Given the description of an element on the screen output the (x, y) to click on. 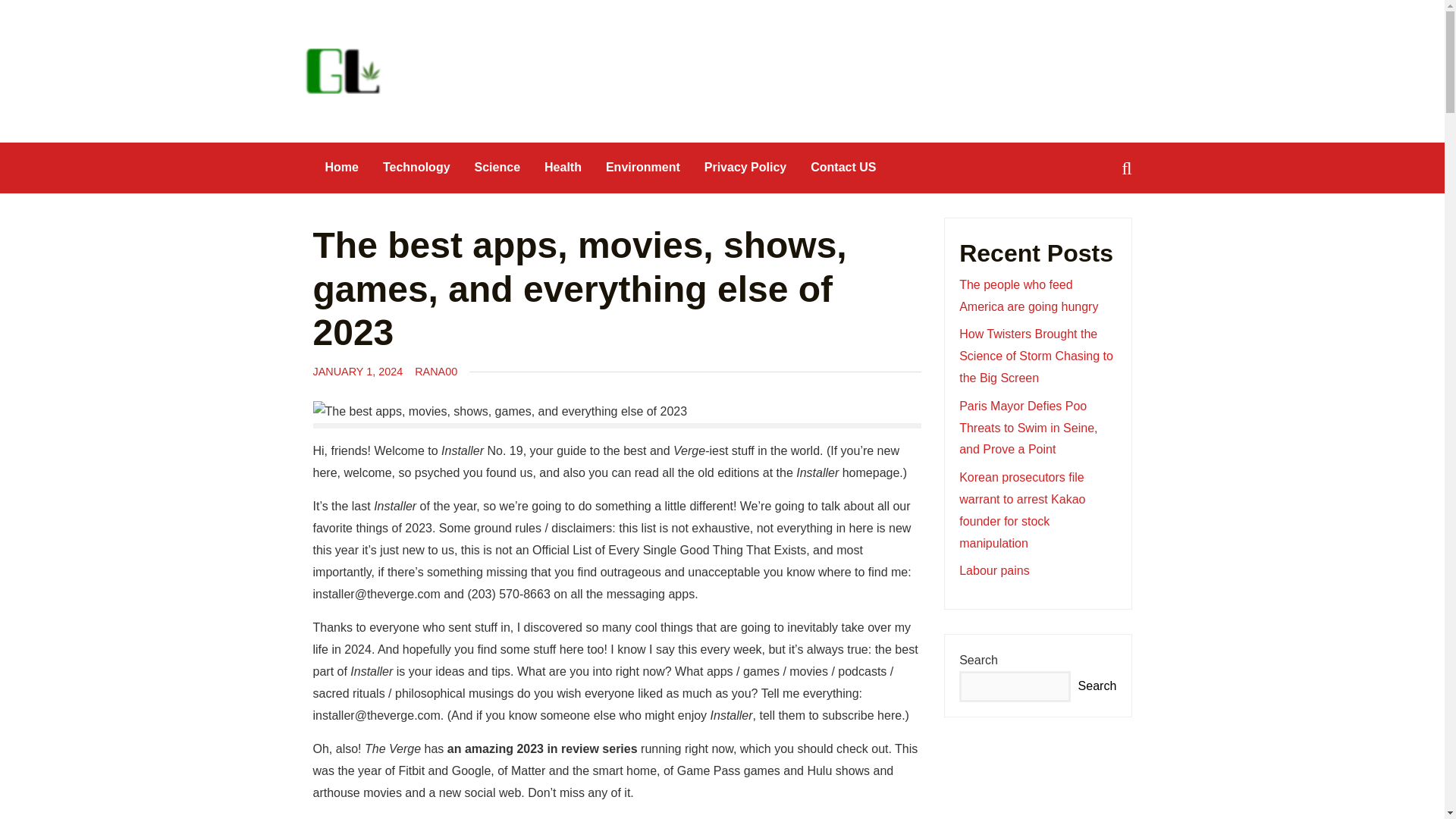
Contact US (842, 167)
JANUARY 1, 2024 (358, 371)
Health (563, 167)
Search (39, 13)
RANA00 (435, 371)
Home (341, 167)
Technology (417, 167)
Environment (643, 167)
Privacy Policy (746, 167)
Science (497, 167)
